Given the description of an element on the screen output the (x, y) to click on. 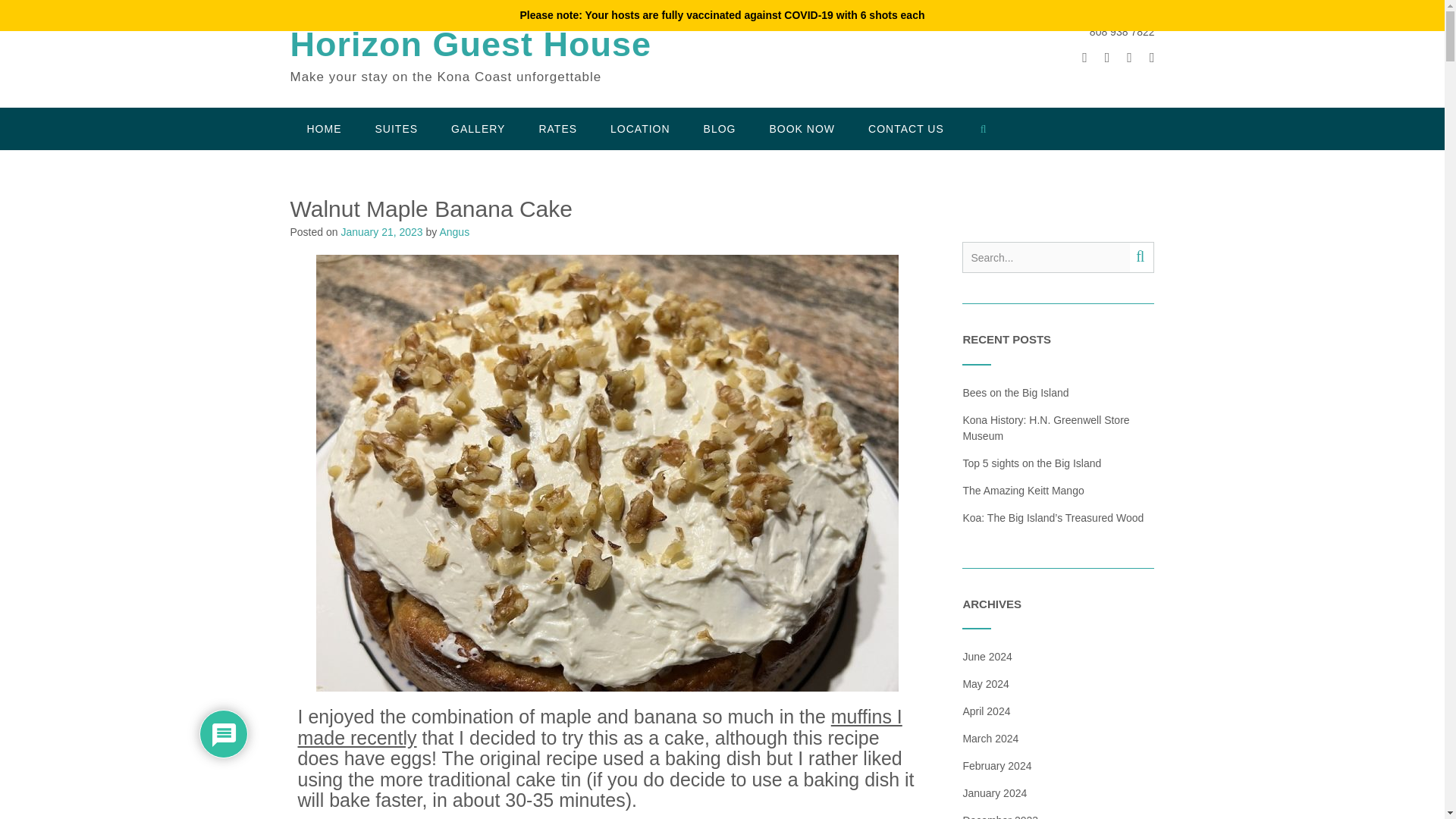
BLOG (719, 128)
Send us an email (1084, 57)
SUITES (395, 128)
GALLERY (477, 128)
Follow us on Instagram (1129, 57)
Angus (453, 232)
January 21, 2023 (381, 232)
CONTACT US (905, 128)
Pin us on Pinterest (1152, 57)
Horizon Guest House (469, 44)
Find us on Facebook (1107, 57)
LOCATION (640, 128)
RATES (557, 128)
HOME (323, 128)
muffins I made recently (599, 726)
